Given the description of an element on the screen output the (x, y) to click on. 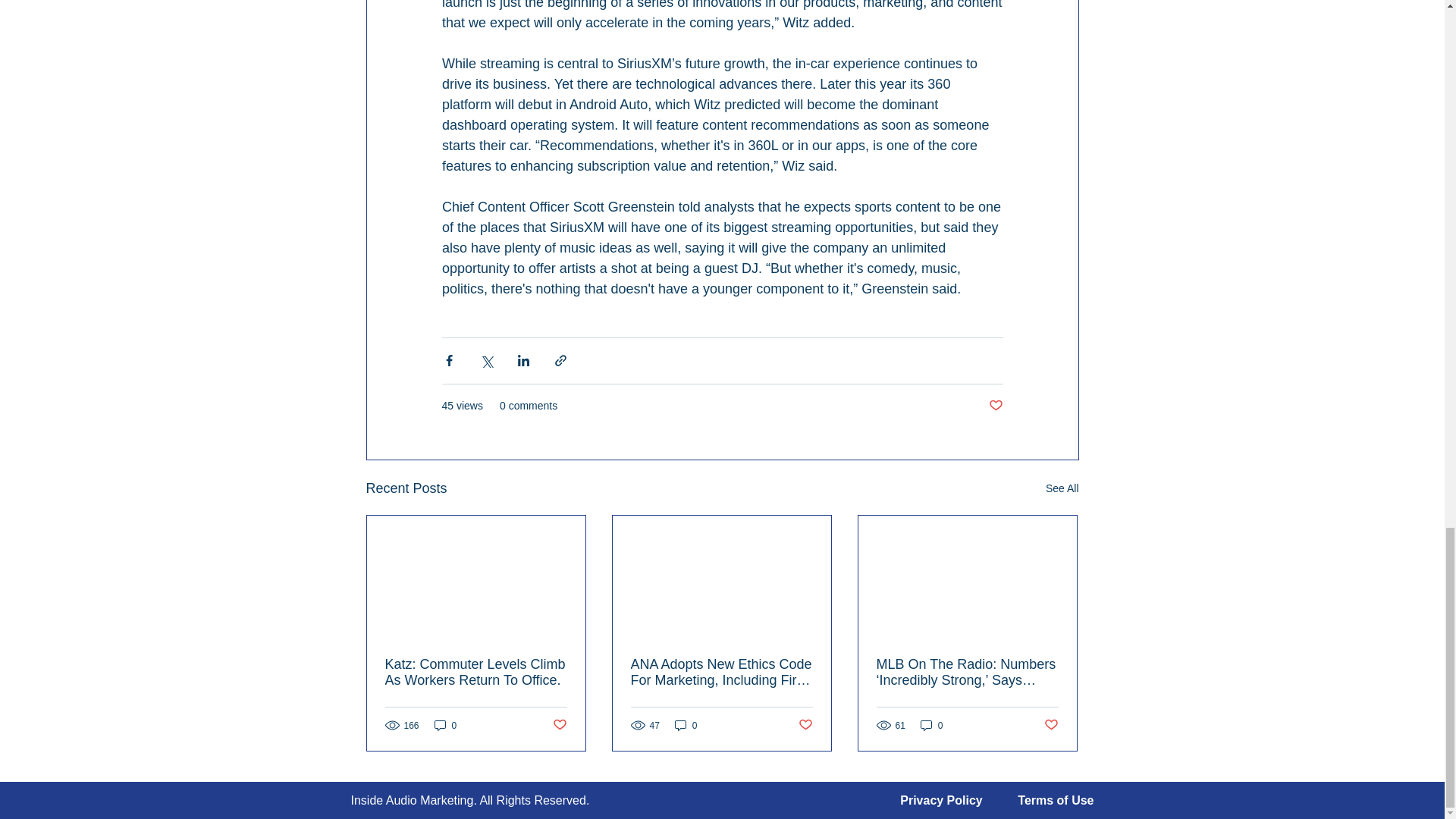
Terms of Use (1055, 799)
Katz: Commuter Levels Climb As Workers Return To Office. (476, 672)
Inside Audio Marketing. All Rights Reserved. (469, 799)
0 (445, 725)
Post not marked as liked (558, 725)
Post not marked as liked (804, 725)
Post not marked as liked (995, 406)
See All (1061, 488)
Privacy Policy (940, 799)
Post not marked as liked (1050, 725)
0 (931, 725)
0 (685, 725)
